Given the description of an element on the screen output the (x, y) to click on. 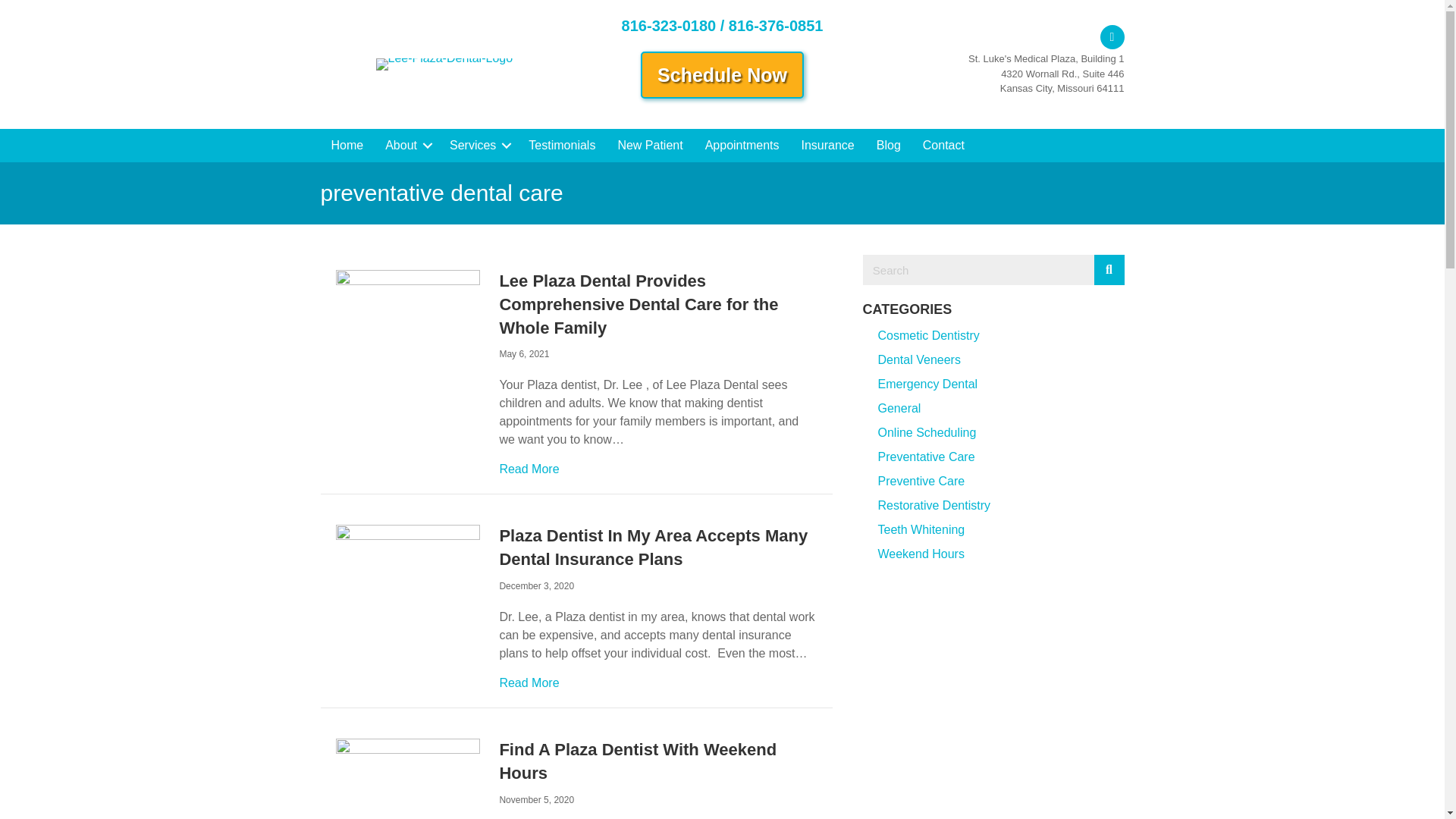
Schedule Now (721, 74)
Services (477, 145)
About (406, 145)
Plaza Dentist In My Area Accepts Many Dental Insurance Plans (653, 547)
Find A Plaza Dentist With Weekend Hours (407, 785)
Read More (529, 469)
New Patient (650, 145)
Plaza Dentist In My Area Accepts Many Dental Insurance Plans (407, 561)
Testimonials (561, 145)
Home (347, 145)
Appointments (742, 145)
Read More (529, 683)
Insurance (827, 145)
